Given the description of an element on the screen output the (x, y) to click on. 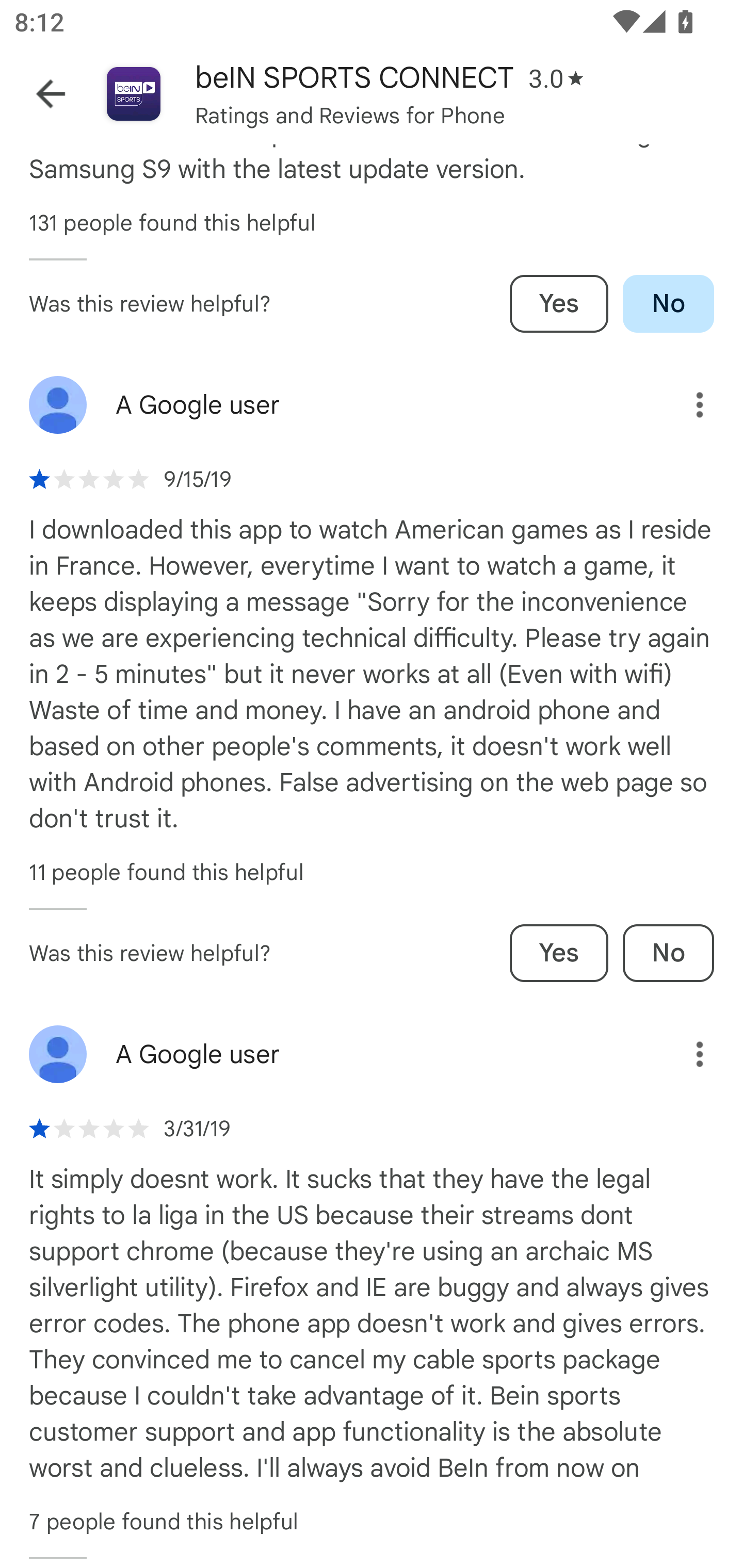
Navigate up (50, 93)
Yes (558, 303)
No (668, 303)
Options (685, 405)
Yes (558, 952)
No (668, 952)
Options (685, 1054)
